Given the description of an element on the screen output the (x, y) to click on. 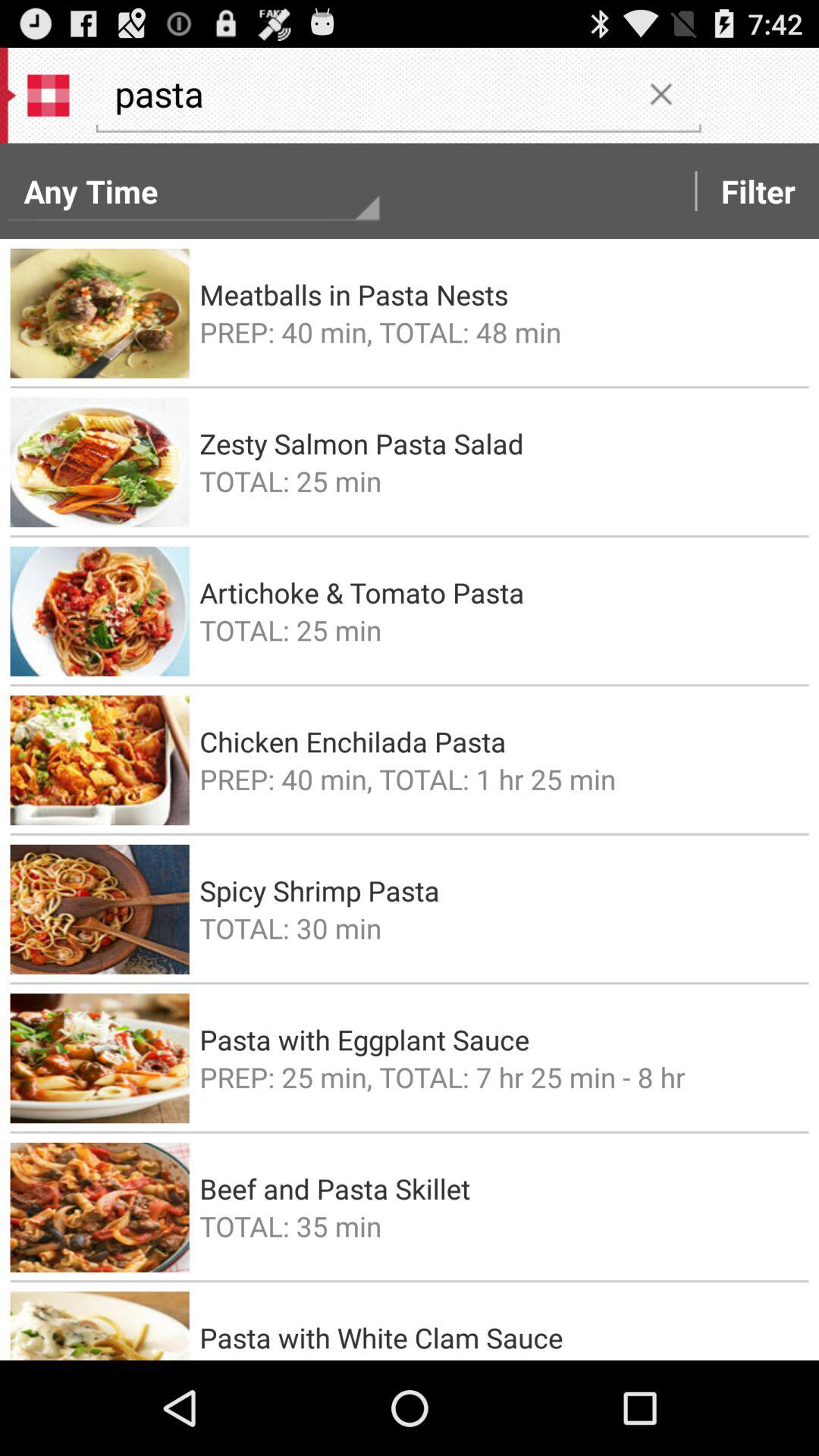
scroll to the zesty salmon pasta icon (498, 443)
